Given the description of an element on the screen output the (x, y) to click on. 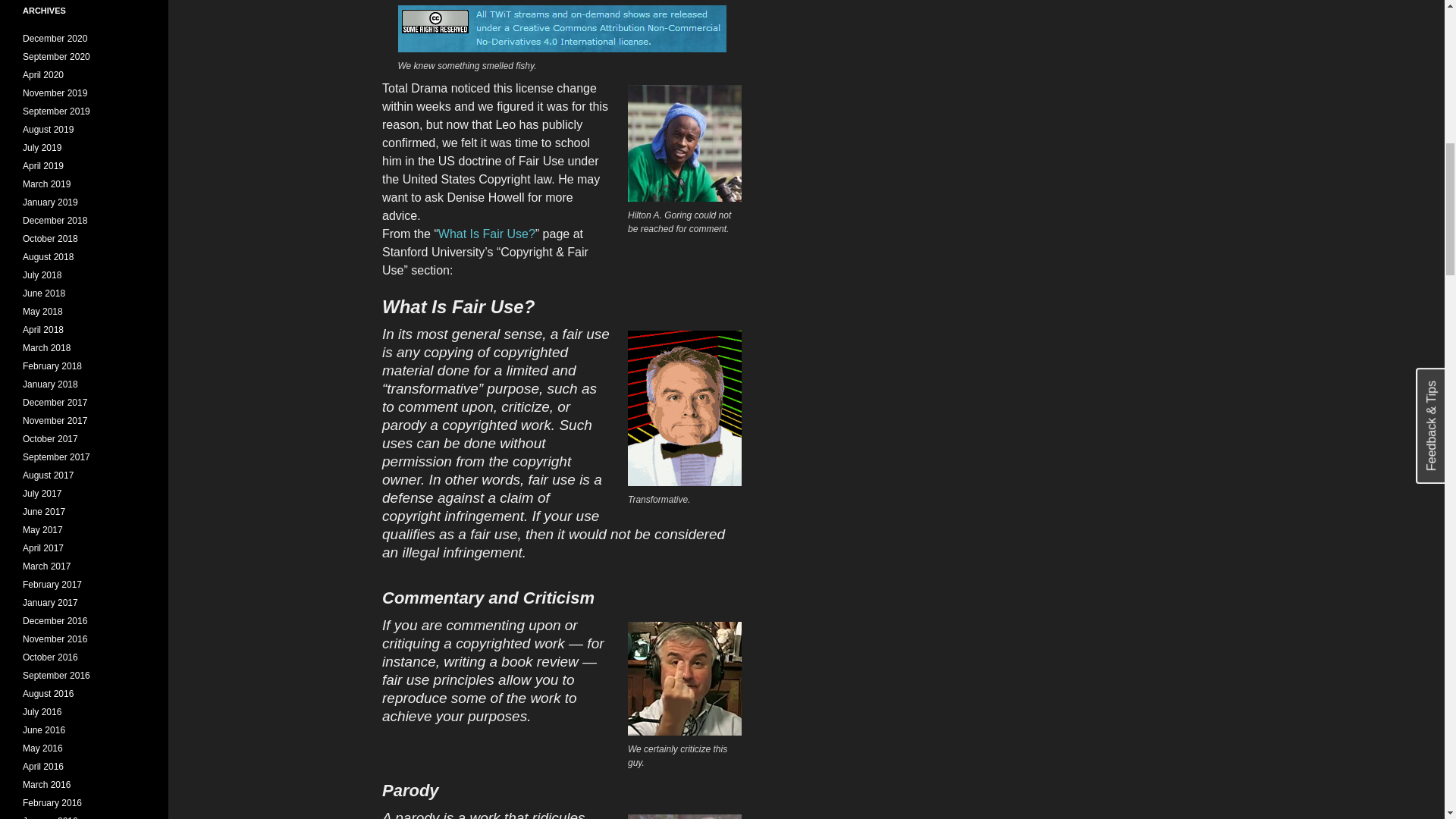
What Is Fair Use? (486, 233)
